Given the description of an element on the screen output the (x, y) to click on. 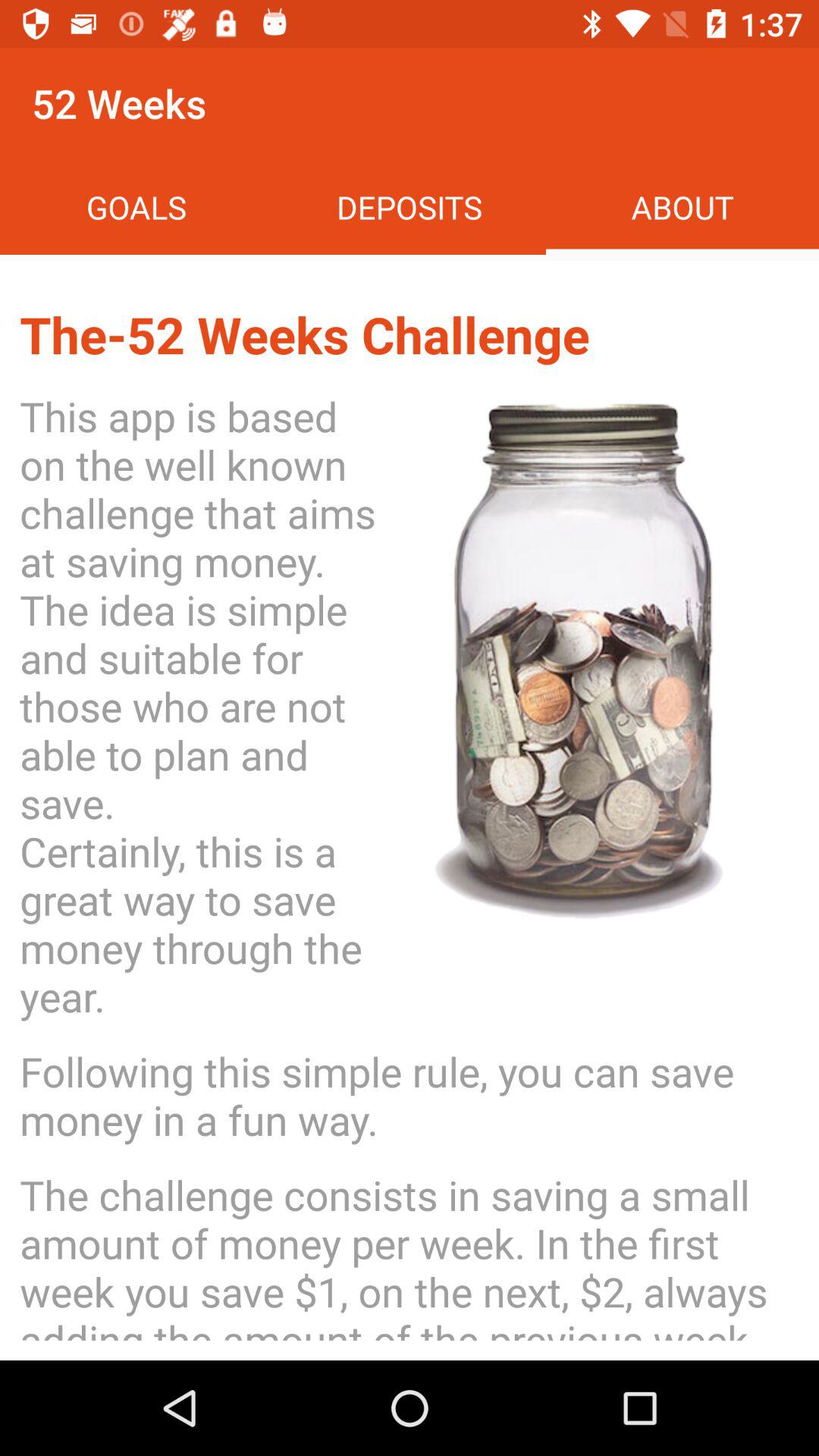
flip to the deposits item (409, 206)
